Given the description of an element on the screen output the (x, y) to click on. 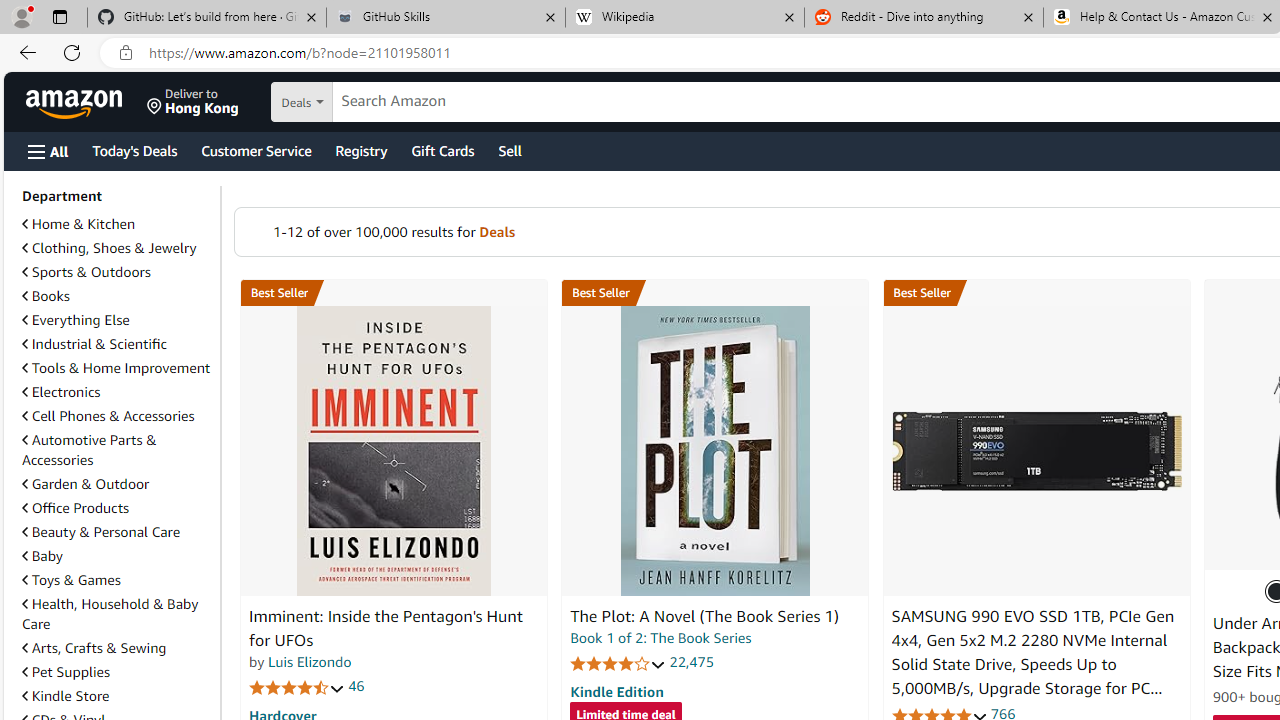
Everything Else (75, 320)
Health, Household & Baby Care (117, 614)
Best Seller in Unexplained Mysteries (393, 293)
Baby (41, 556)
Garden & Outdoor (117, 483)
Registry (360, 150)
Book 1 of 2: The Book Series (660, 638)
Deliver to Hong Kong (193, 101)
Baby (117, 555)
Luis Elizondo (309, 662)
Arts, Crafts & Sewing (117, 647)
